Given the description of an element on the screen output the (x, y) to click on. 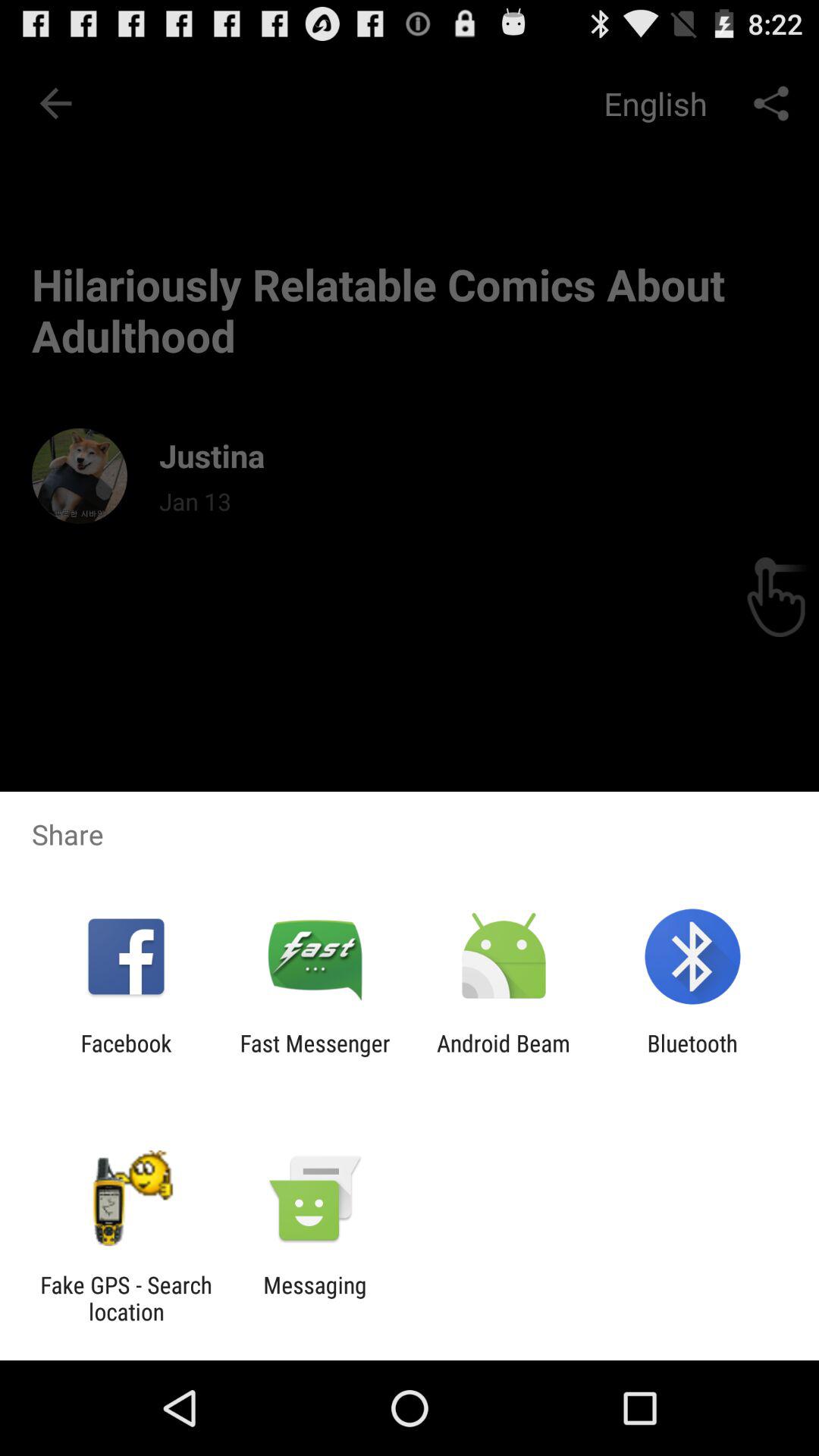
choose the app next to the fake gps search (314, 1298)
